Given the description of an element on the screen output the (x, y) to click on. 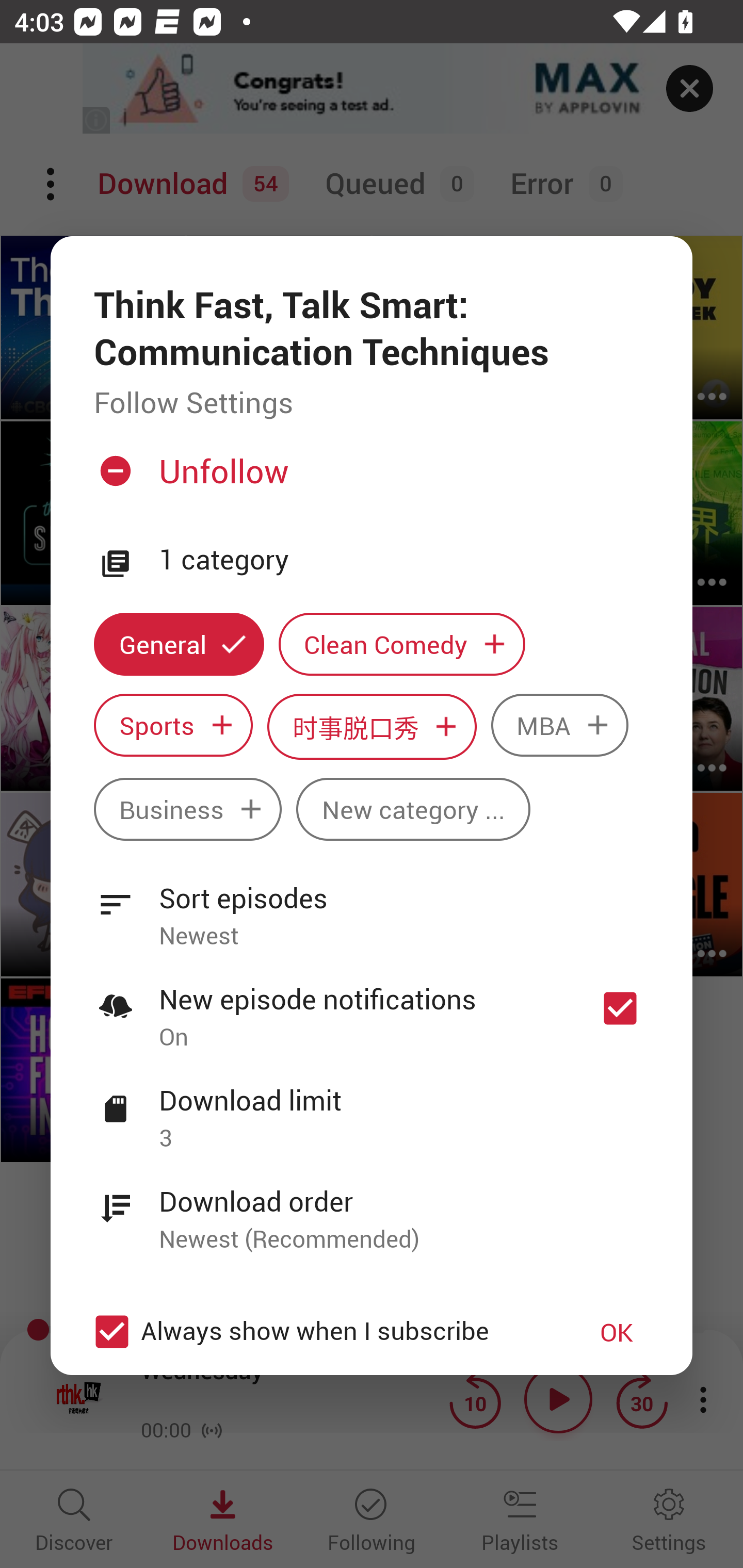
Unfollow (369, 479)
1 category (404, 559)
General (178, 644)
Clean Comedy (401, 644)
Sports (172, 725)
时事脱口秀 (372, 726)
MBA (559, 725)
Business (187, 808)
New category ... (413, 808)
Sort episodes Newest (371, 905)
New episode notifications (620, 1009)
Download limit 3 (371, 1107)
Download order Newest (Recommended) (371, 1208)
OK (616, 1331)
Always show when I subscribe (320, 1332)
